Given the description of an element on the screen output the (x, y) to click on. 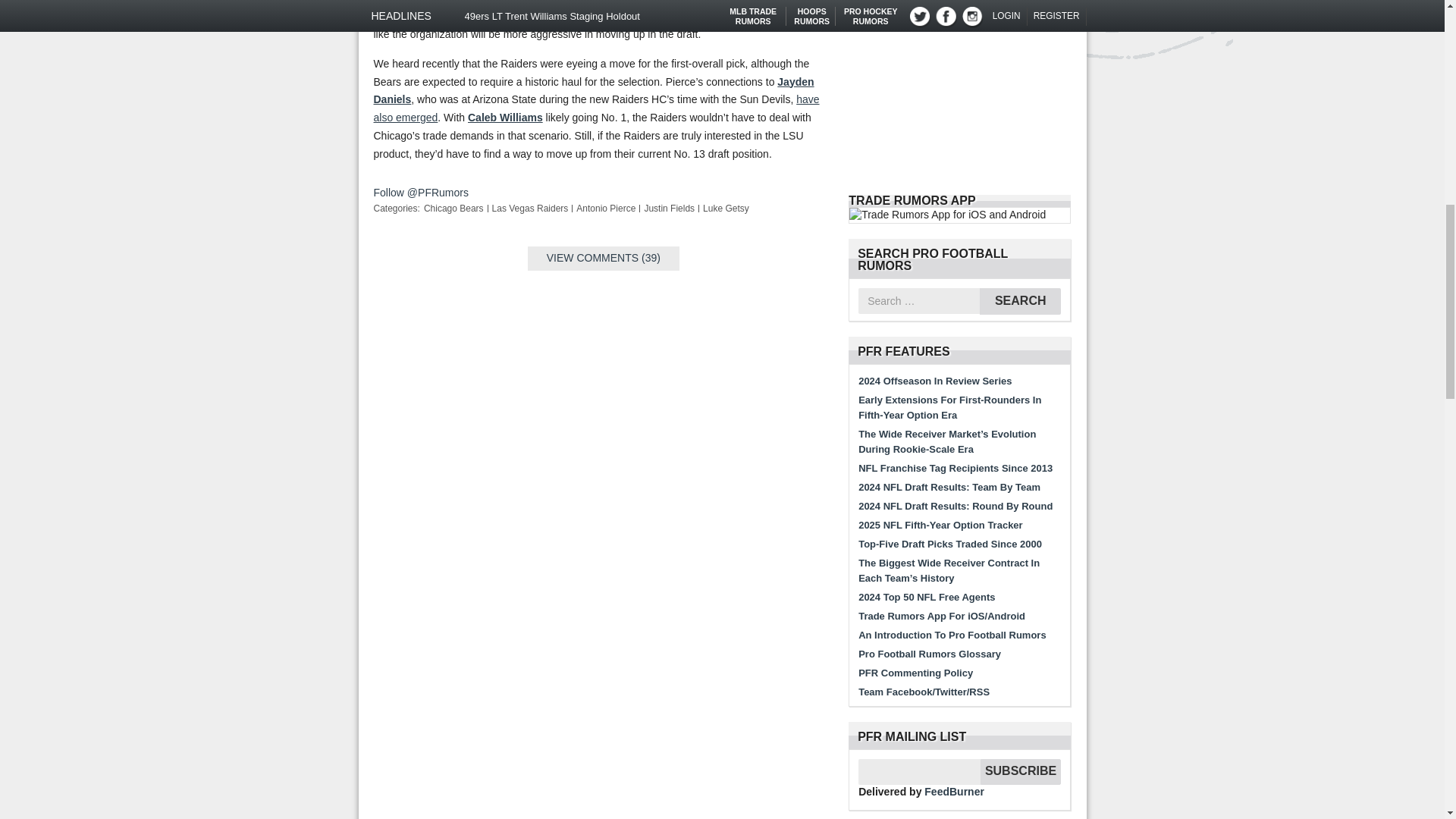
View all posts in Luke Getsy (726, 208)
Search for: (919, 300)
View all posts in Justin Fields (668, 208)
View all posts in Chicago Bears (453, 208)
View all posts in Las Vegas Raiders (530, 208)
Subscribe (1020, 771)
View all posts in Antonio Pierce (605, 208)
Search (1020, 301)
